Given the description of an element on the screen output the (x, y) to click on. 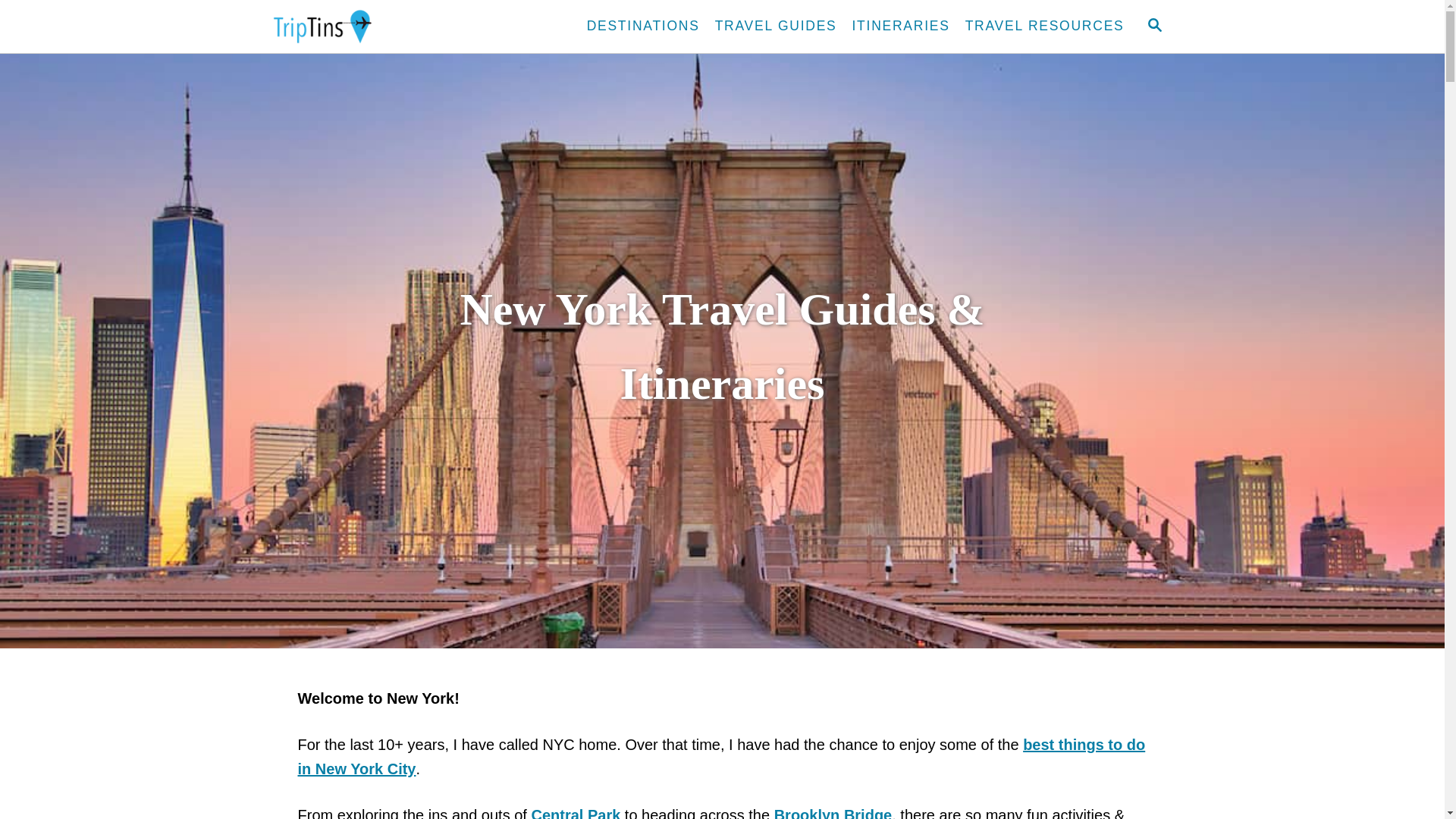
Central Park (575, 812)
ITINERARIES (901, 26)
best things to do in New York City (720, 756)
TRAVEL RESOURCES (1045, 26)
Brooklyn Bridge (833, 812)
TripTins (401, 26)
DESTINATIONS (643, 26)
TRAVEL GUIDES (775, 26)
SEARCH (1153, 26)
